Given the description of an element on the screen output the (x, y) to click on. 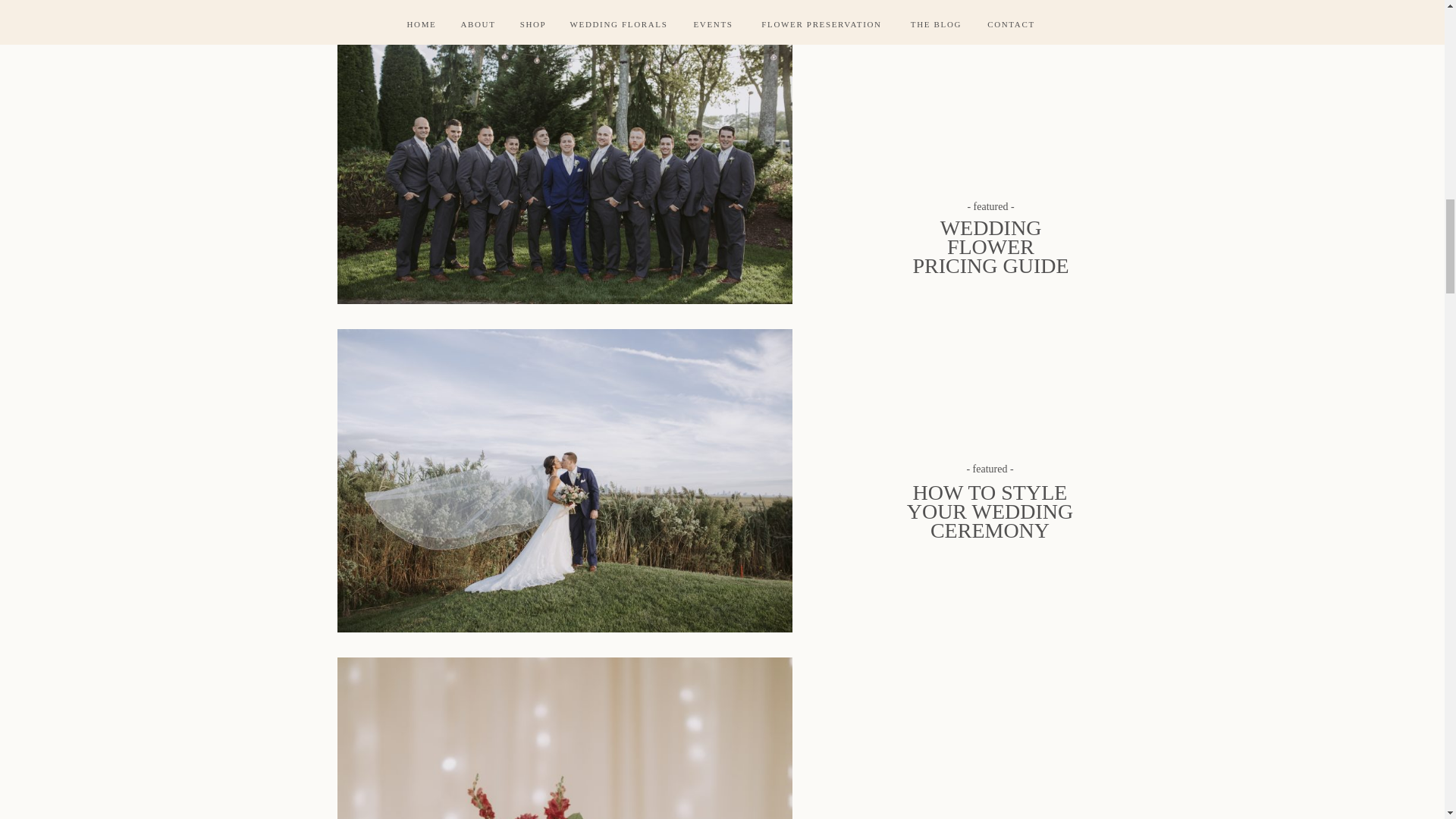
WEDDING FLOWER PRICING GUIDE (990, 245)
HOW TO STYLE YOUR WEDDING CEREMONY (990, 492)
- featured - (989, 204)
- featured - (989, 467)
